Given the description of an element on the screen output the (x, y) to click on. 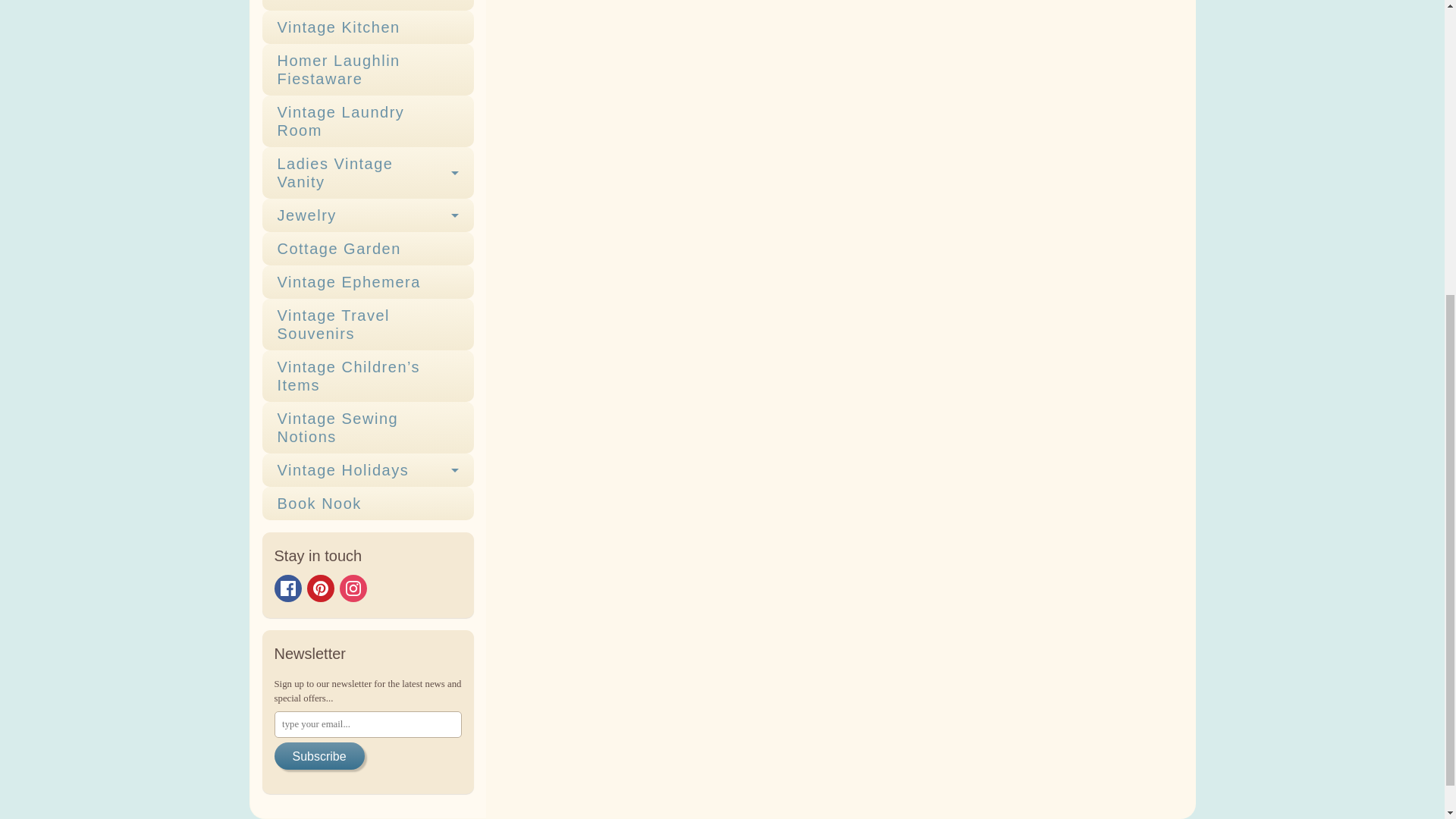
Homer Laughlin Fiestaware (368, 69)
Pinterest (319, 587)
Instagram (352, 587)
Ladies Vintage Vanity (368, 173)
Facebook (288, 587)
Vintage Kitchen (368, 27)
Vintage Laundry Room (368, 121)
